Given the description of an element on the screen output the (x, y) to click on. 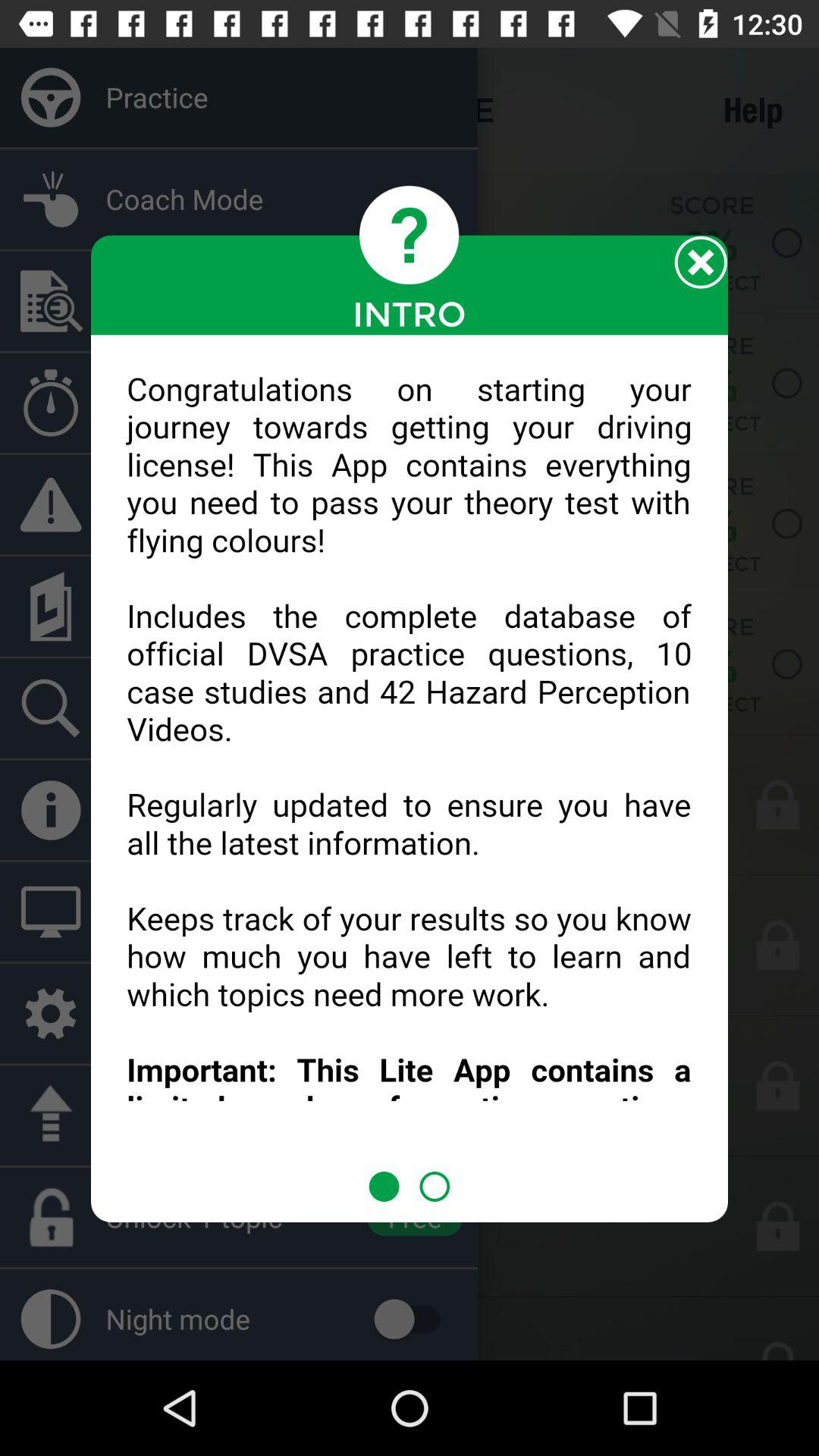
intro page (409, 752)
